Given the description of an element on the screen output the (x, y) to click on. 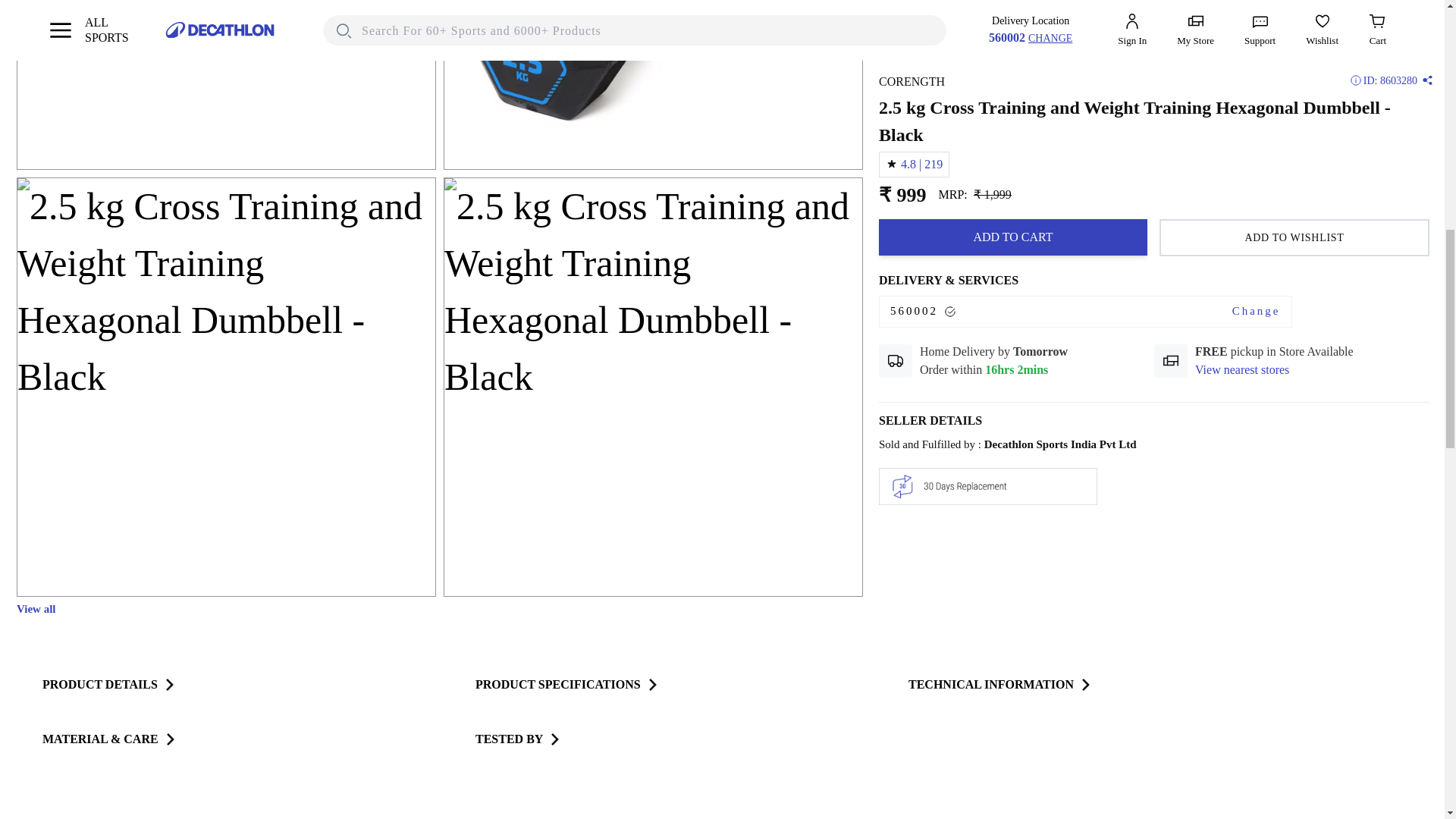
PRODUCT DETAILS (108, 684)
PRODUCT DETAILS (108, 684)
TECHNICAL INFORMATION (999, 684)
PRODUCT SPECIFICATIONS (566, 684)
TECHNICAL INFORMATION (999, 684)
REVIEWS (673, 801)
TESTED BY (517, 739)
TESTED BY (517, 739)
PRODUCT SPECIFICATIONS (566, 684)
